Given the description of an element on the screen output the (x, y) to click on. 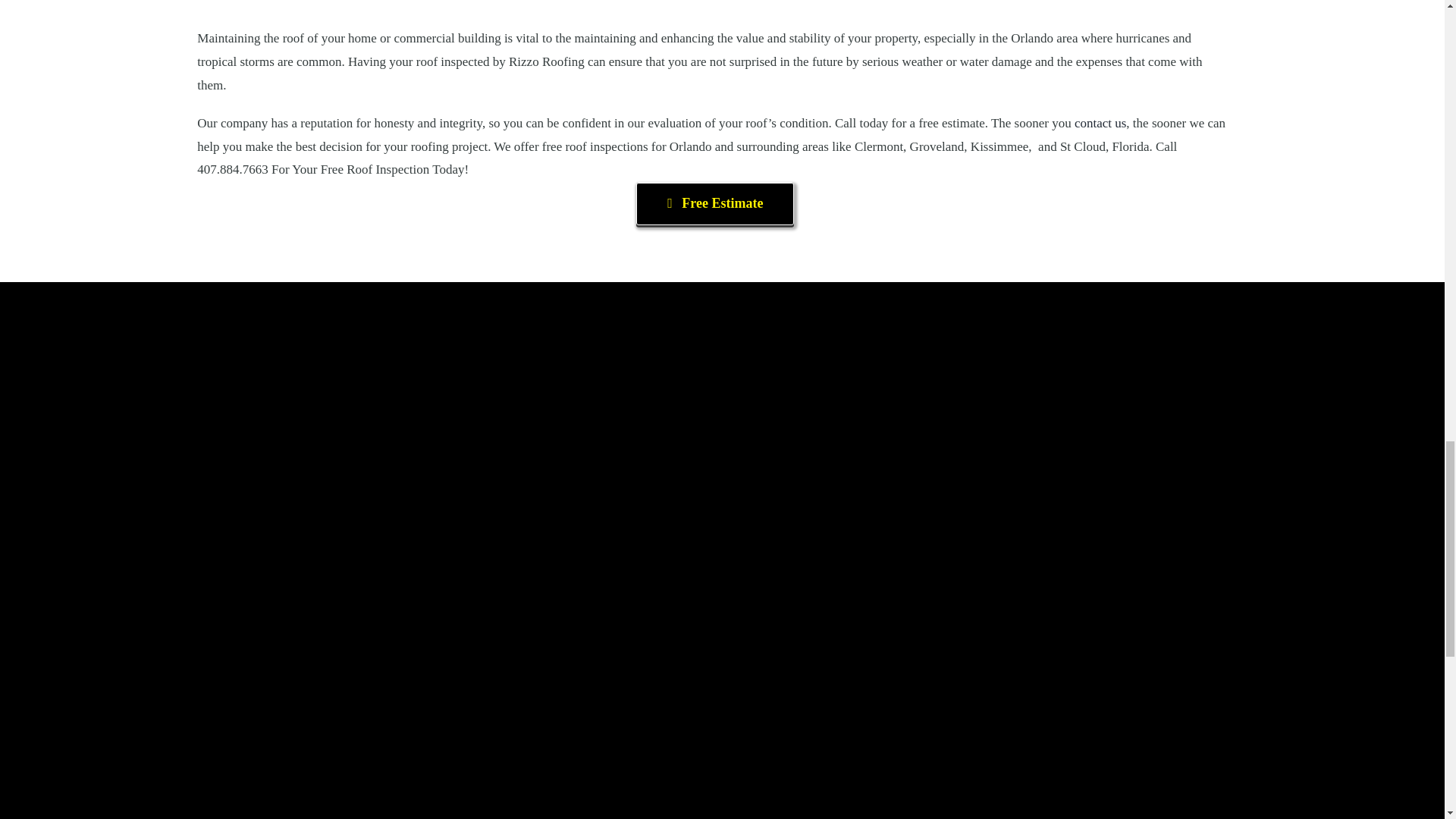
Free Estimate (714, 203)
contact us (1099, 123)
